Given the description of an element on the screen output the (x, y) to click on. 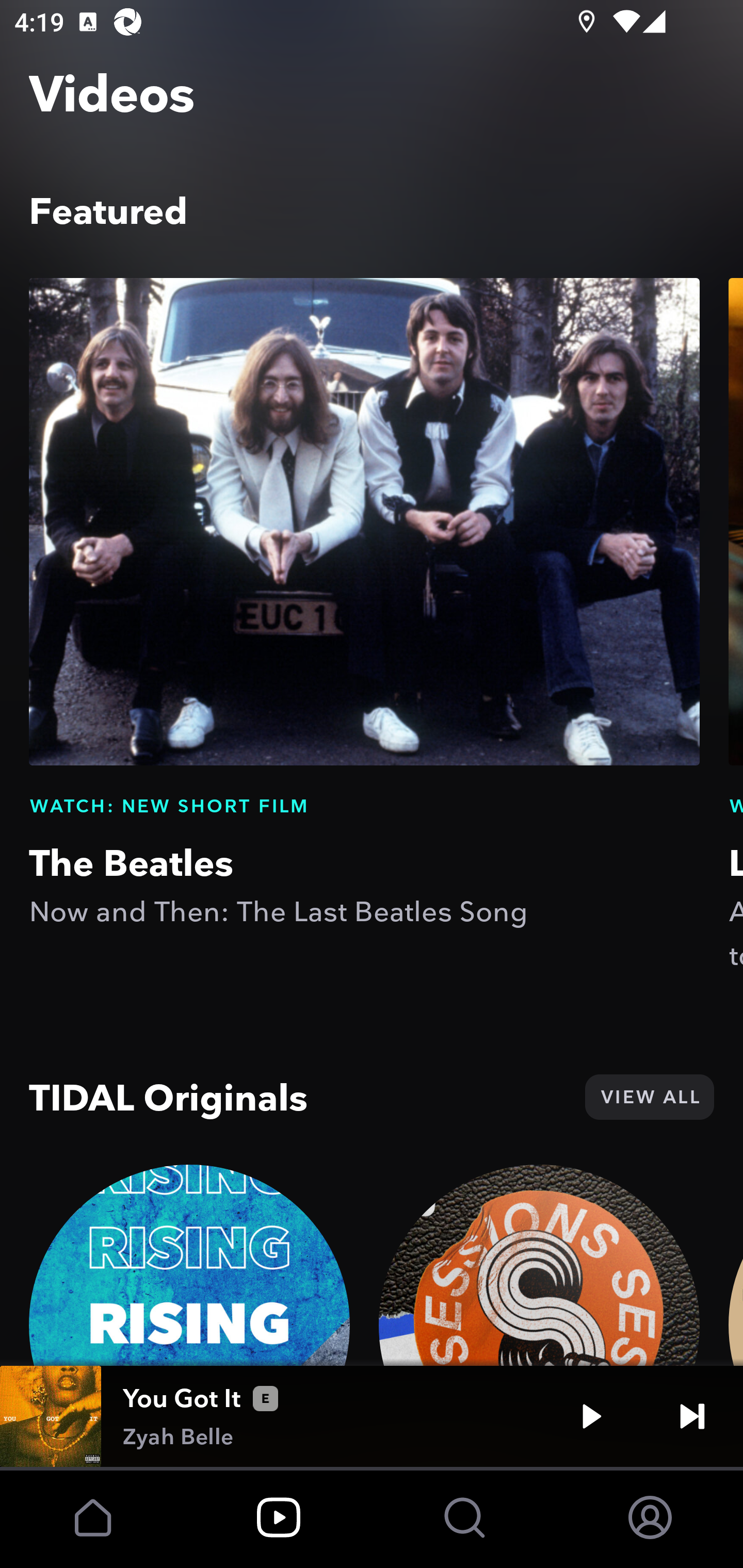
VIEW ALL (649, 1096)
You Got It    Zyah Belle Play (371, 1416)
Play (590, 1416)
